Given the description of an element on the screen output the (x, y) to click on. 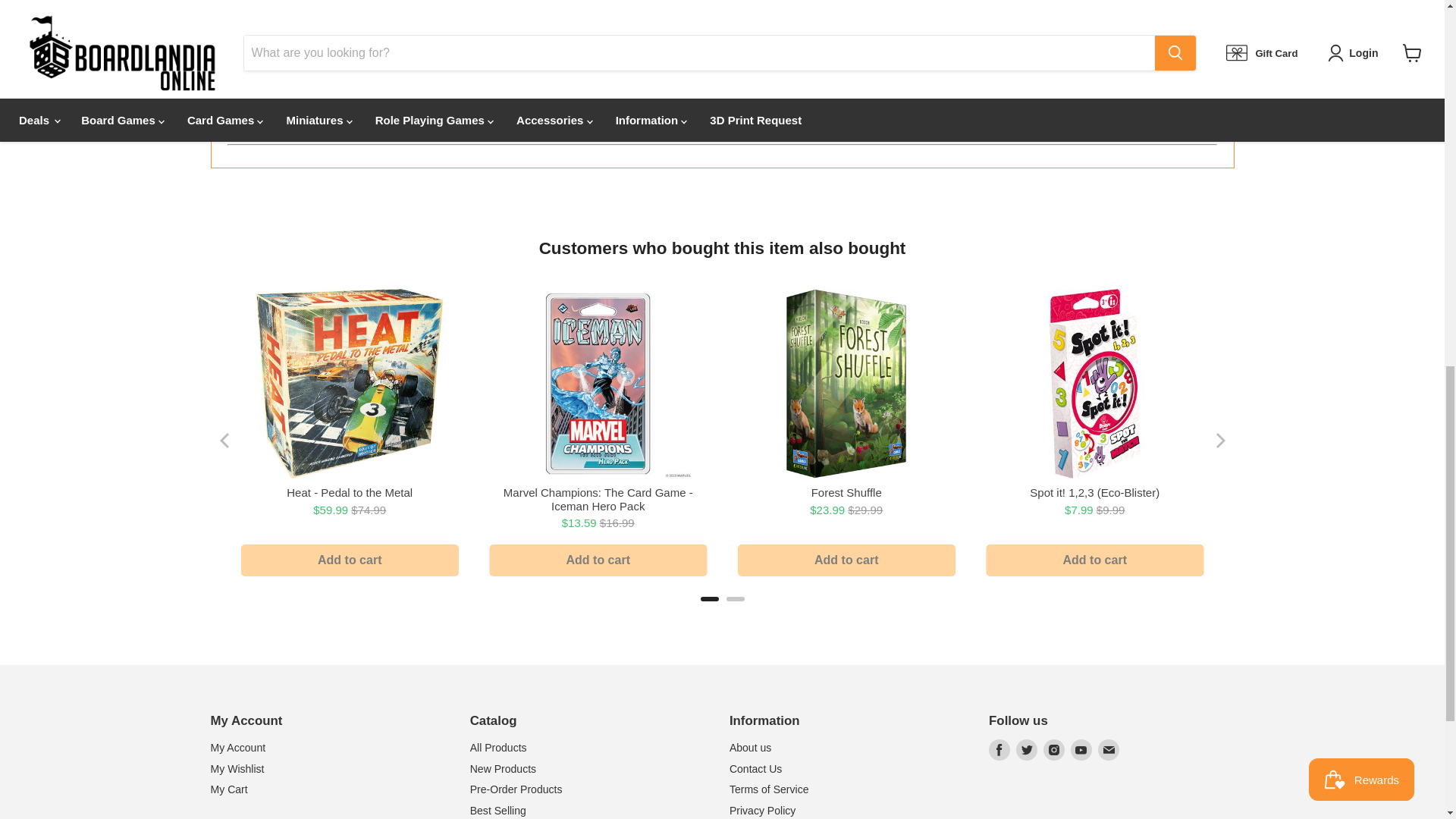
Instagram (1053, 749)
Twitter (1026, 749)
Email (1108, 749)
Facebook (999, 749)
Youtube (1081, 749)
